Given the description of an element on the screen output the (x, y) to click on. 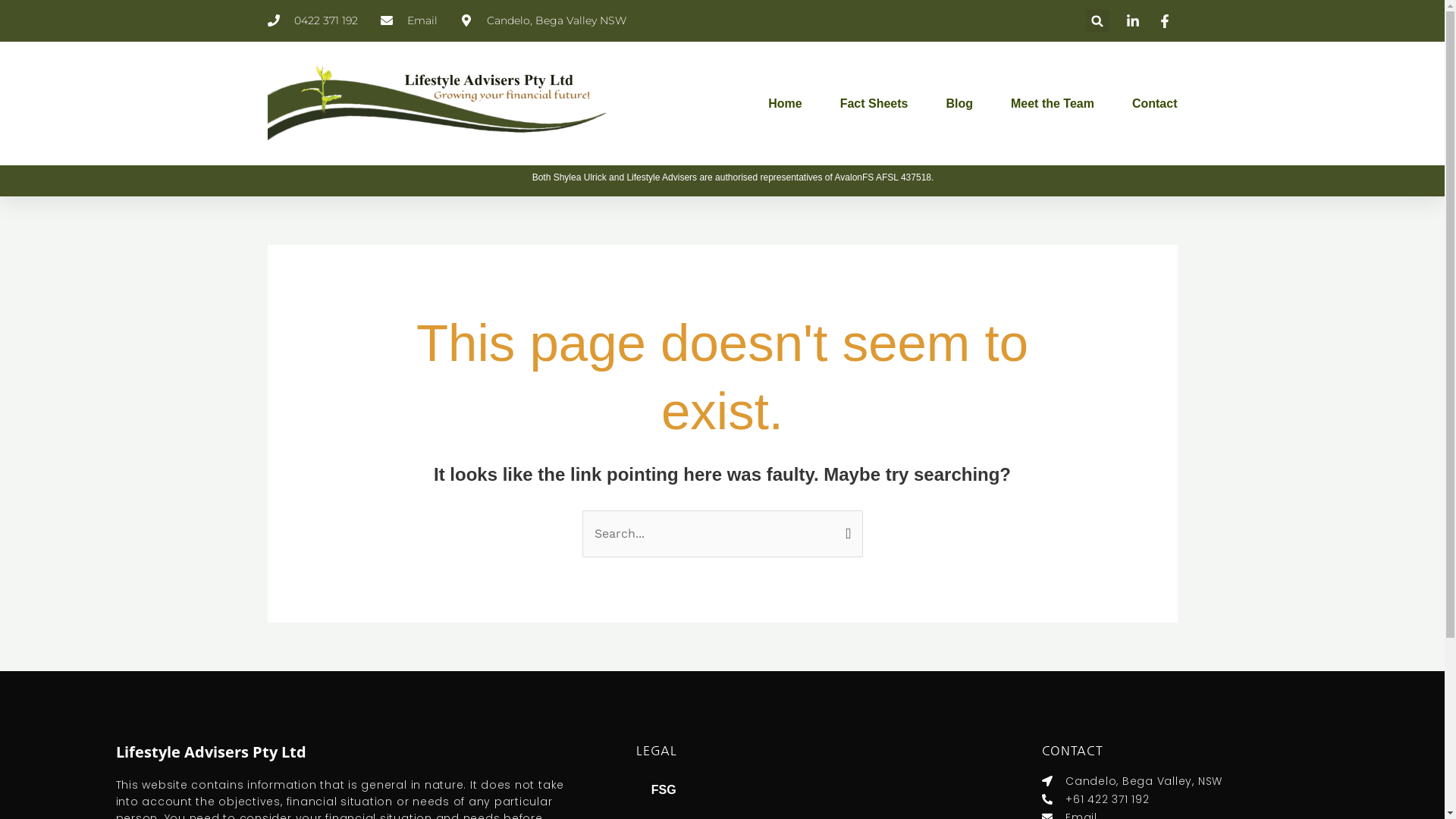
Meet the Team Element type: text (1052, 103)
Contact Element type: text (1154, 103)
FSG Element type: text (808, 789)
+61 422 371 192 Element type: text (1185, 798)
Home Element type: text (784, 103)
Search Element type: text (845, 525)
Email Element type: text (408, 20)
0422 371 192 Element type: text (311, 20)
Blog Element type: text (958, 103)
Fact Sheets Element type: text (874, 103)
